Given the description of an element on the screen output the (x, y) to click on. 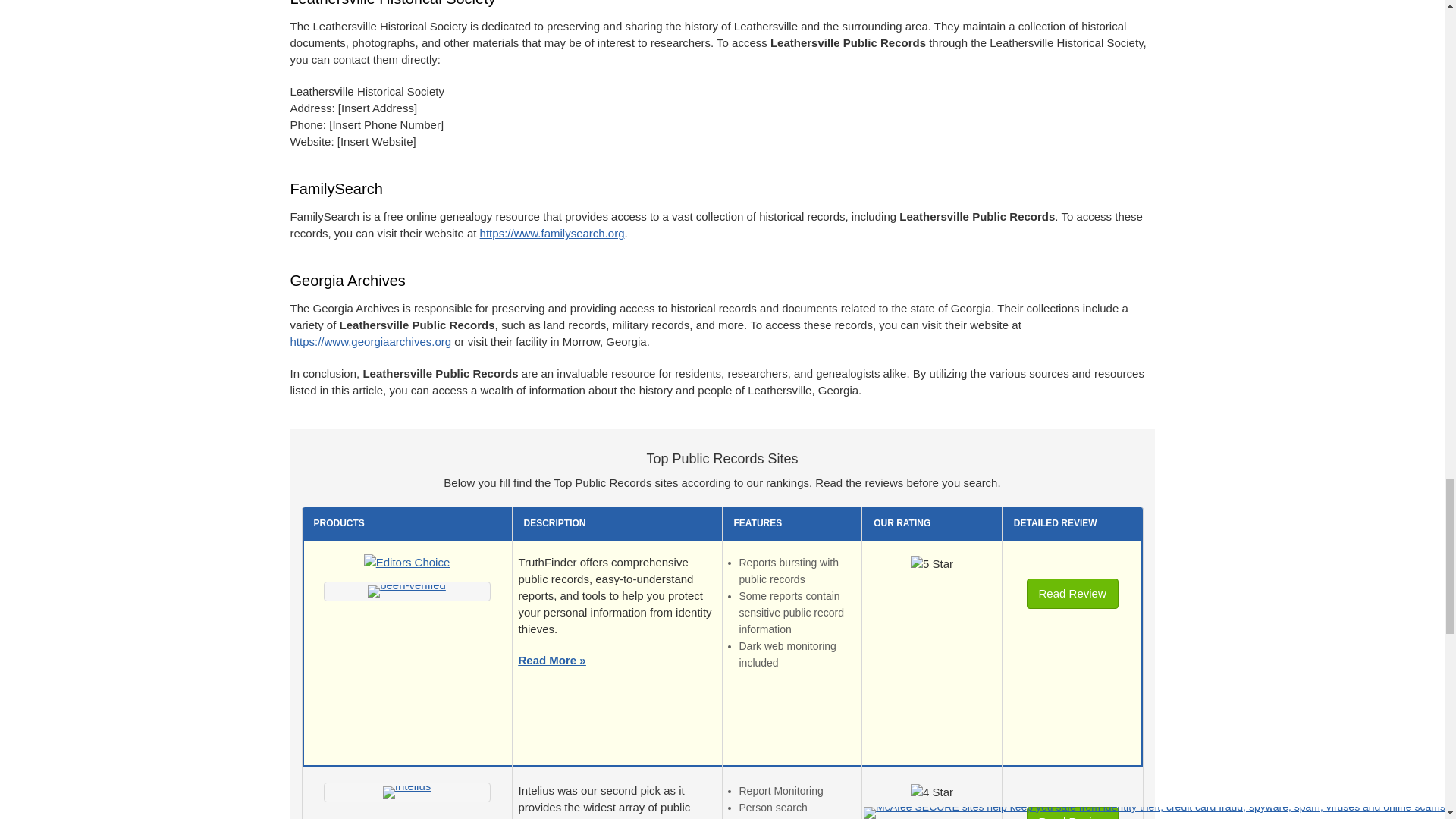
TruthFinder (406, 591)
Intelius (406, 792)
Editors Choice (406, 566)
